Given the description of an element on the screen output the (x, y) to click on. 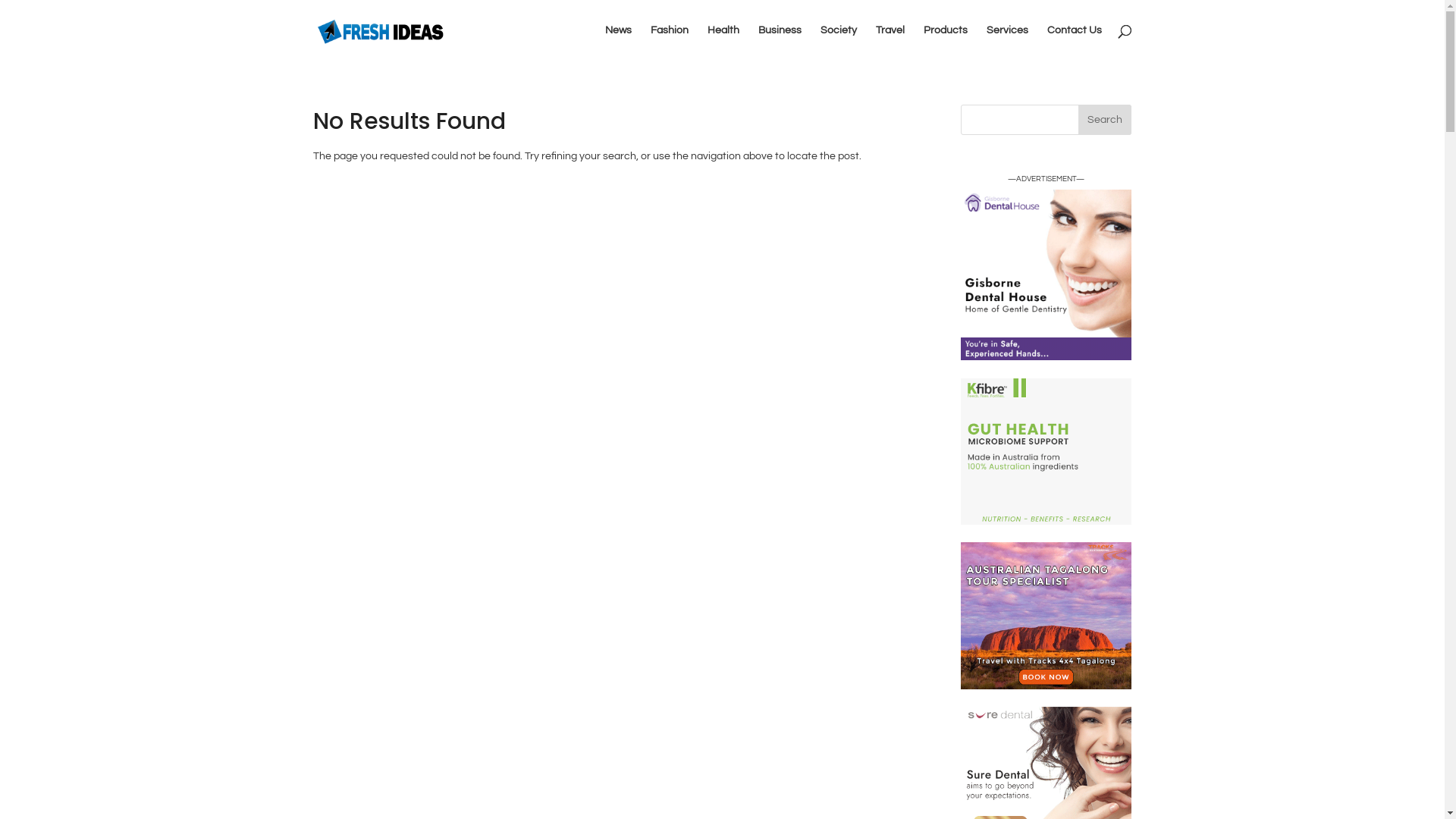
Business Element type: text (779, 42)
News Element type: text (618, 42)
Products Element type: text (945, 42)
Society Element type: text (838, 42)
Services Element type: text (1006, 42)
Travel Element type: text (889, 42)
Health Element type: text (722, 42)
Contact Us Element type: text (1073, 42)
Search Element type: text (1104, 119)
Fashion Element type: text (669, 42)
